Given the description of an element on the screen output the (x, y) to click on. 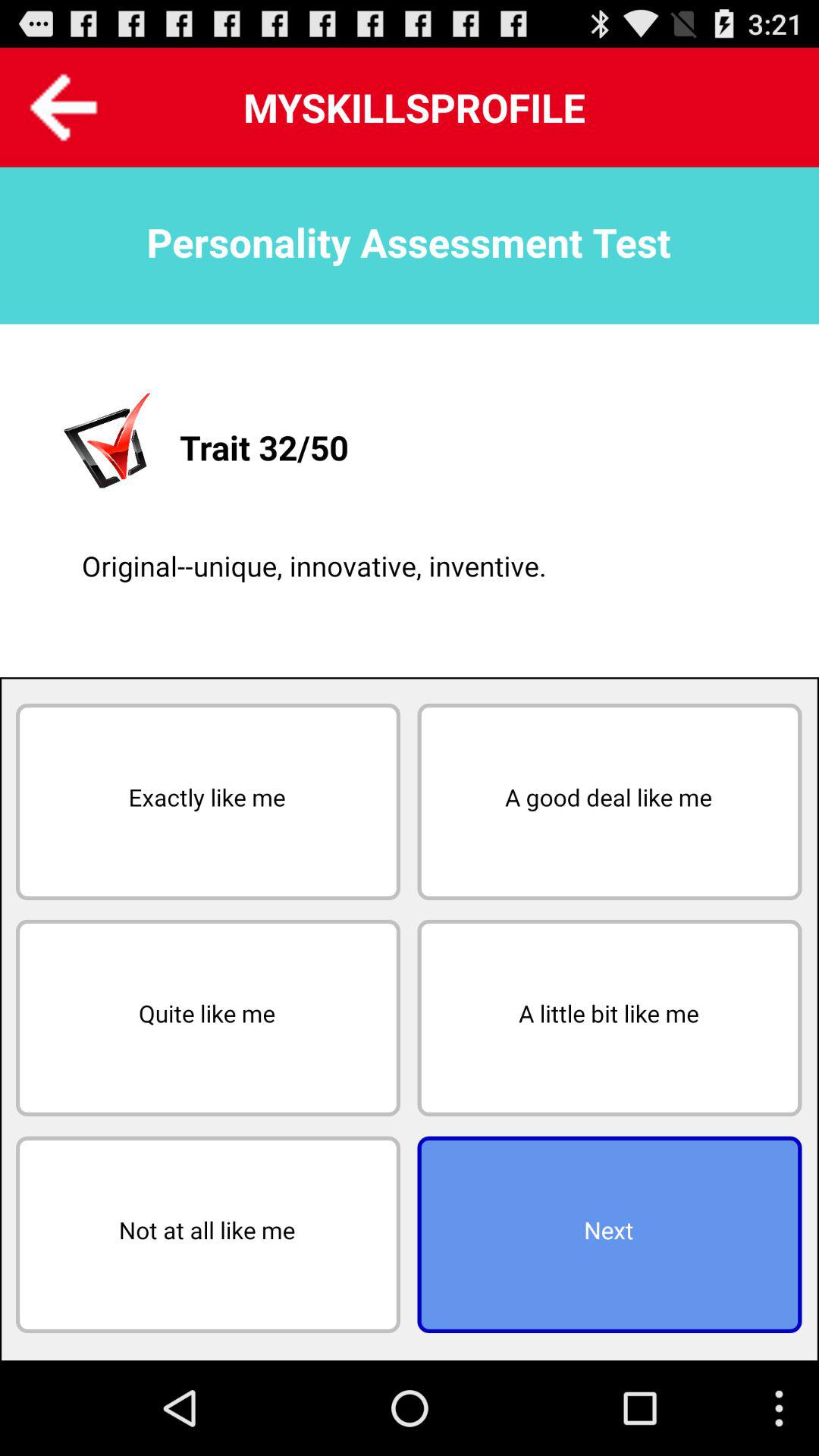
choose icon below quite like me (207, 1234)
